Given the description of an element on the screen output the (x, y) to click on. 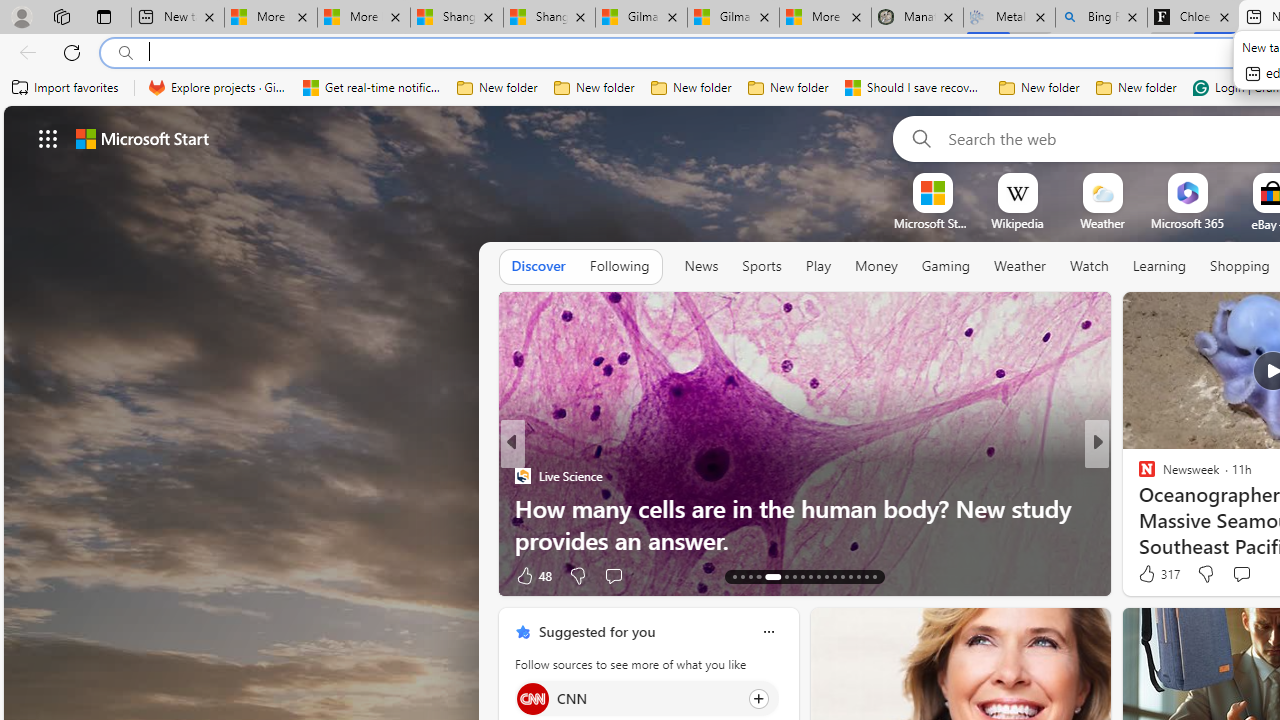
New folder (1136, 88)
62 Like (1149, 574)
AutomationID: tab-38 (865, 576)
App launcher (47, 138)
Play (817, 265)
View comments 5 Comment (1234, 574)
AutomationID: tab-21 (810, 576)
Forge of Empires (1175, 507)
Class: icon-img (768, 632)
TODAY (1138, 475)
Climate Crisis 247 (1138, 475)
